Given the description of an element on the screen output the (x, y) to click on. 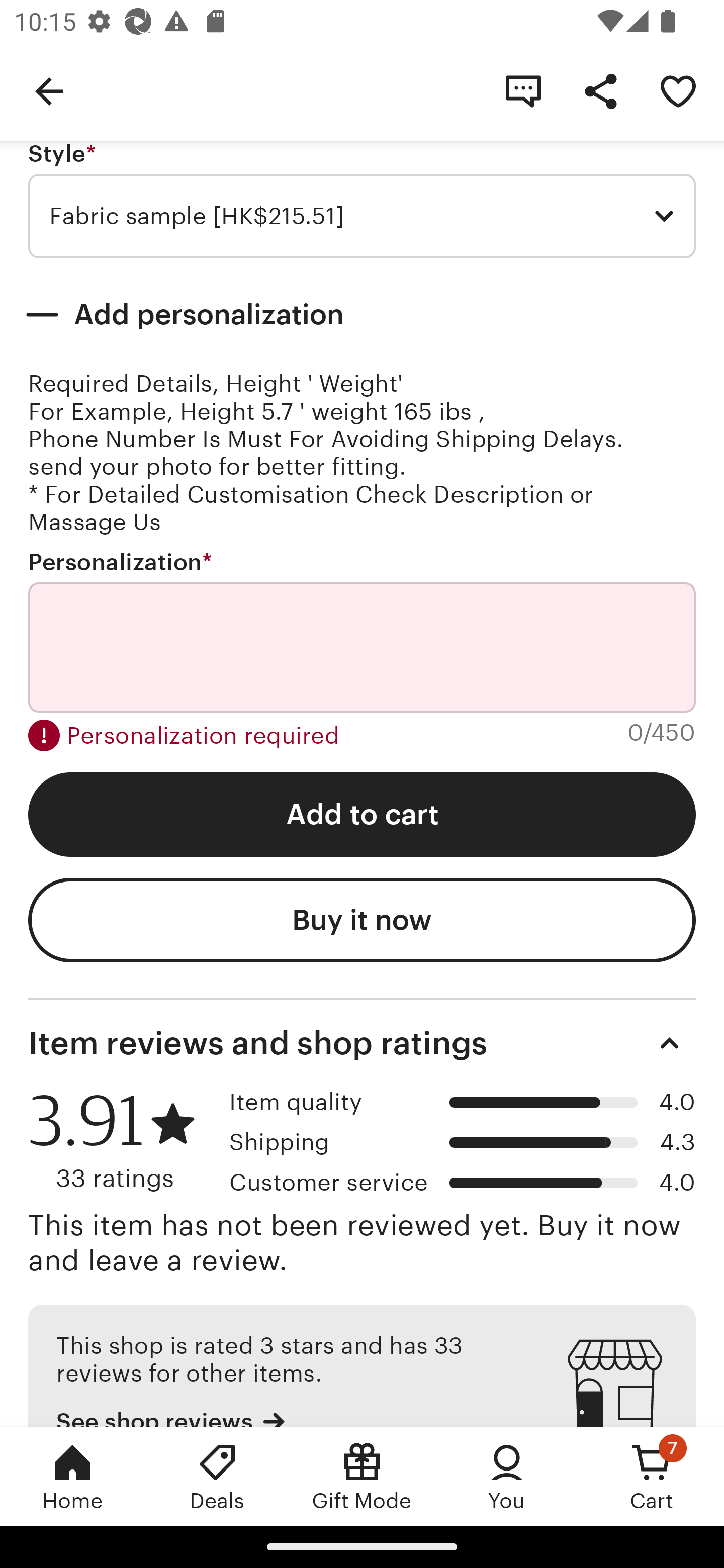
Navigate up (49, 90)
Contact shop (523, 90)
Share (600, 90)
Style * Required Fabric sample [HK$215.51] (361, 199)
Fabric sample [HK$215.51] (361, 216)
Add personalization Add personalization Required (362, 314)
Add to cart (361, 814)
Buy it now (361, 920)
Item reviews and shop ratings (362, 1043)
3.91 33 ratings (121, 1141)
Deals (216, 1475)
Gift Mode (361, 1475)
You (506, 1475)
Cart, 7 new notifications Cart (651, 1475)
